Given the description of an element on the screen output the (x, y) to click on. 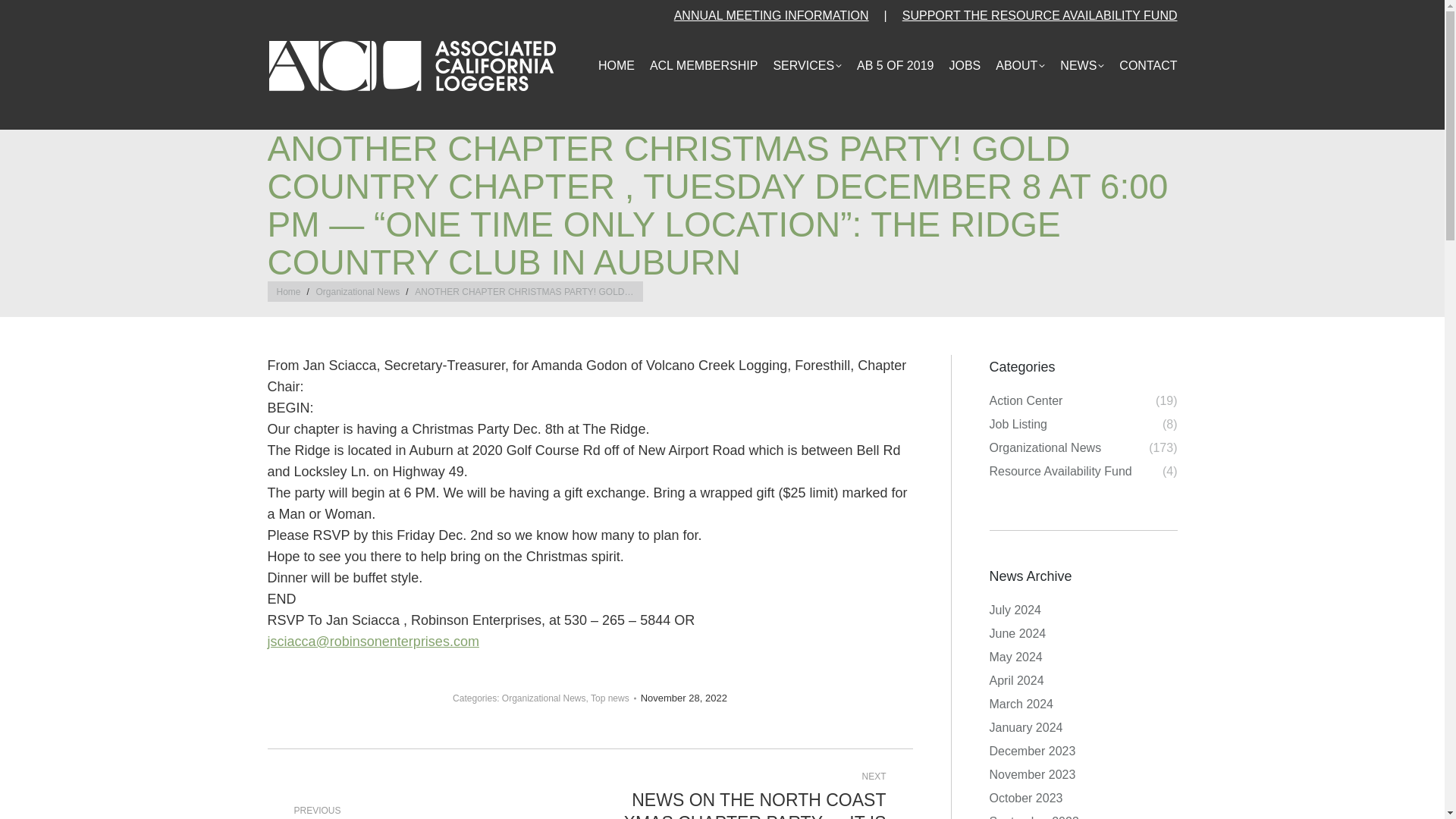
CONTACT (1139, 76)
SERVICES (799, 76)
ANNUAL MEETING INFORMATION (771, 15)
Organizational News (357, 291)
AB 5 OF 2019 (887, 76)
5:22 pm (683, 698)
Home (287, 291)
ACL MEMBERSHIP (696, 76)
SUPPORT THE RESOURCE AVAILABILITY FUND (1039, 15)
